Given the description of an element on the screen output the (x, y) to click on. 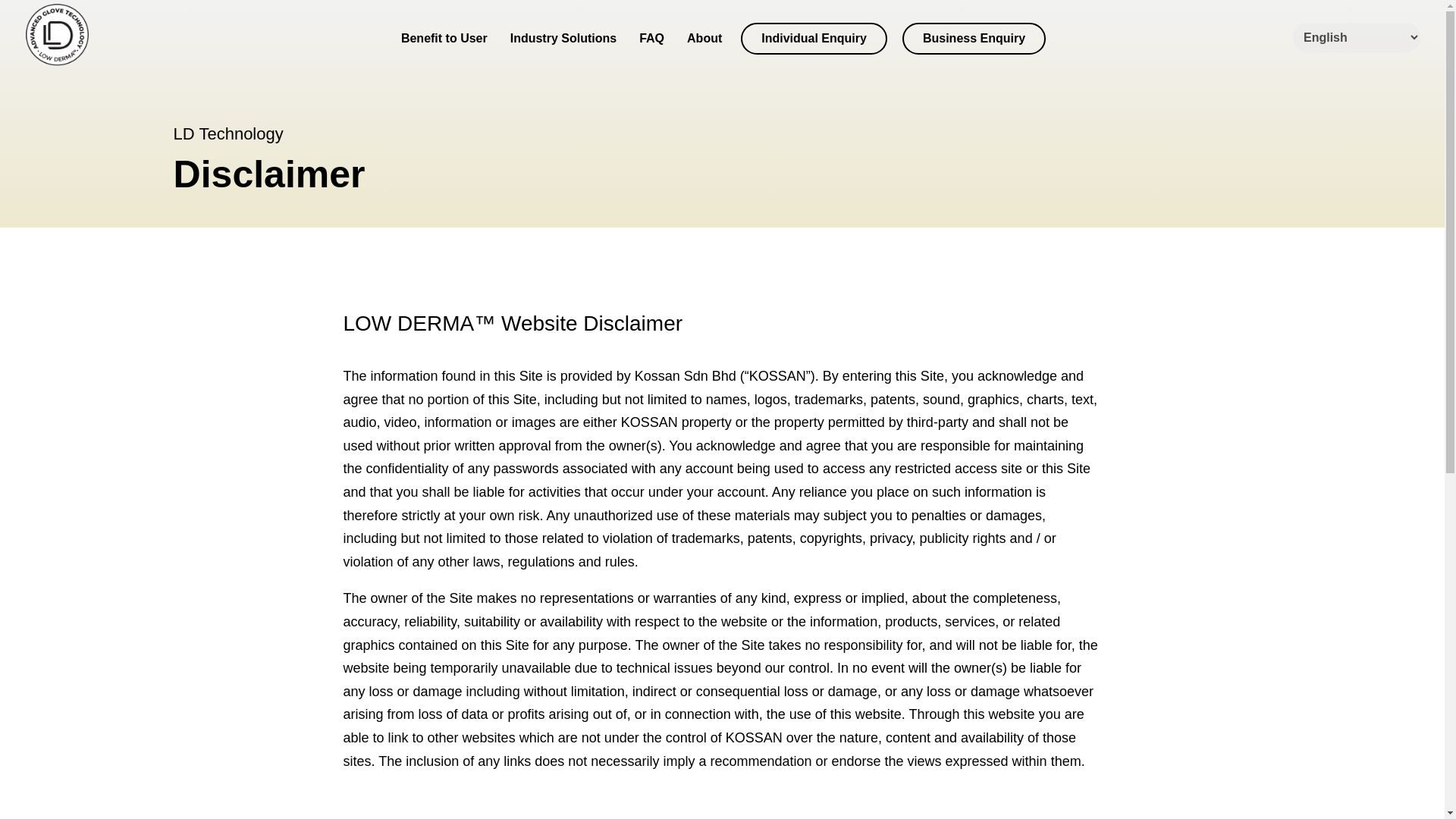
About (704, 38)
Business Enquiry (973, 38)
Industry Solutions (563, 38)
Benefit to User (444, 38)
FAQ (651, 38)
Individual Enquiry (813, 38)
